Given the description of an element on the screen output the (x, y) to click on. 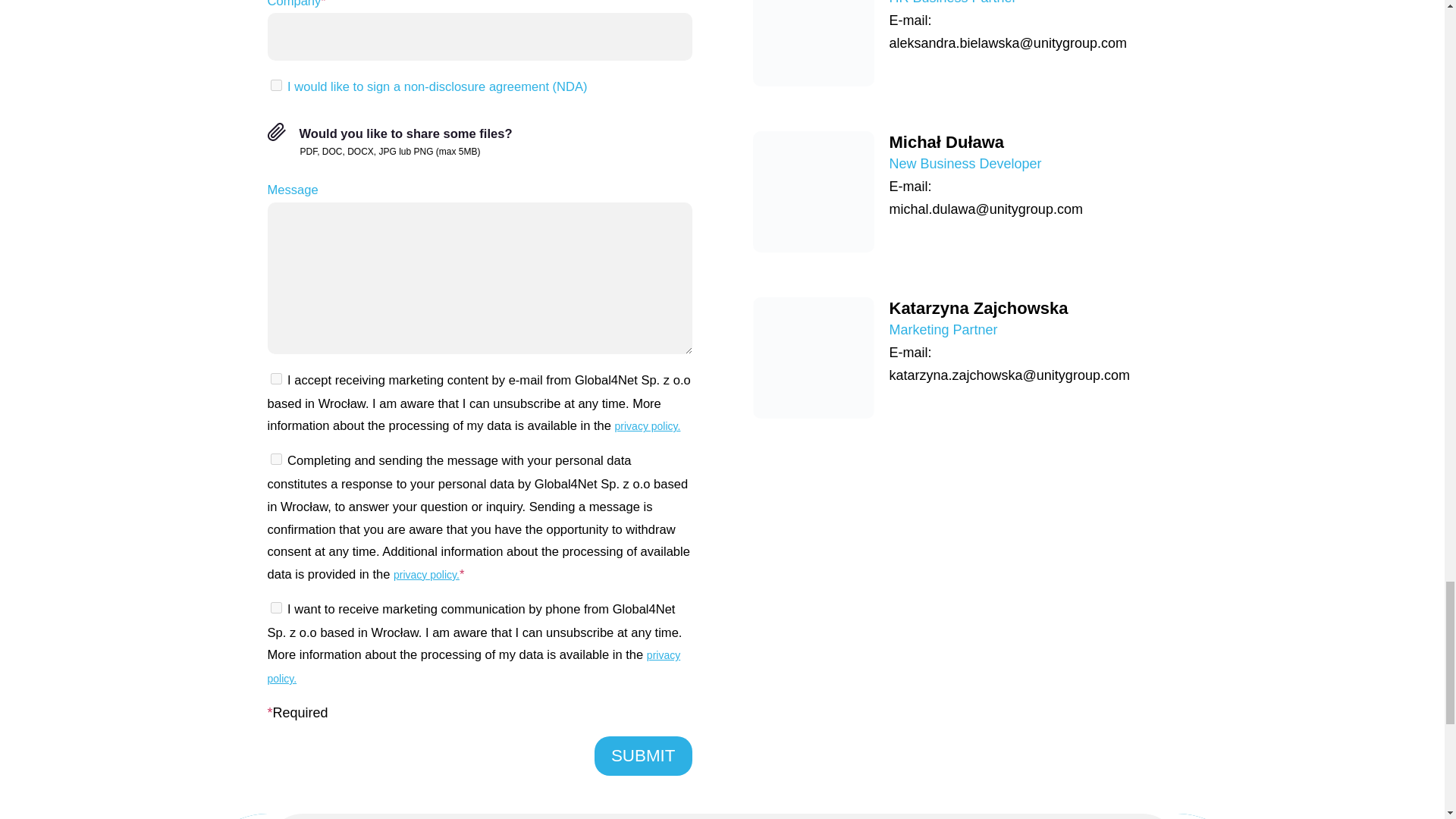
1 (275, 459)
SUBMIT (643, 755)
1 (275, 84)
1 (275, 378)
1 (275, 607)
